Given the description of an element on the screen output the (x, y) to click on. 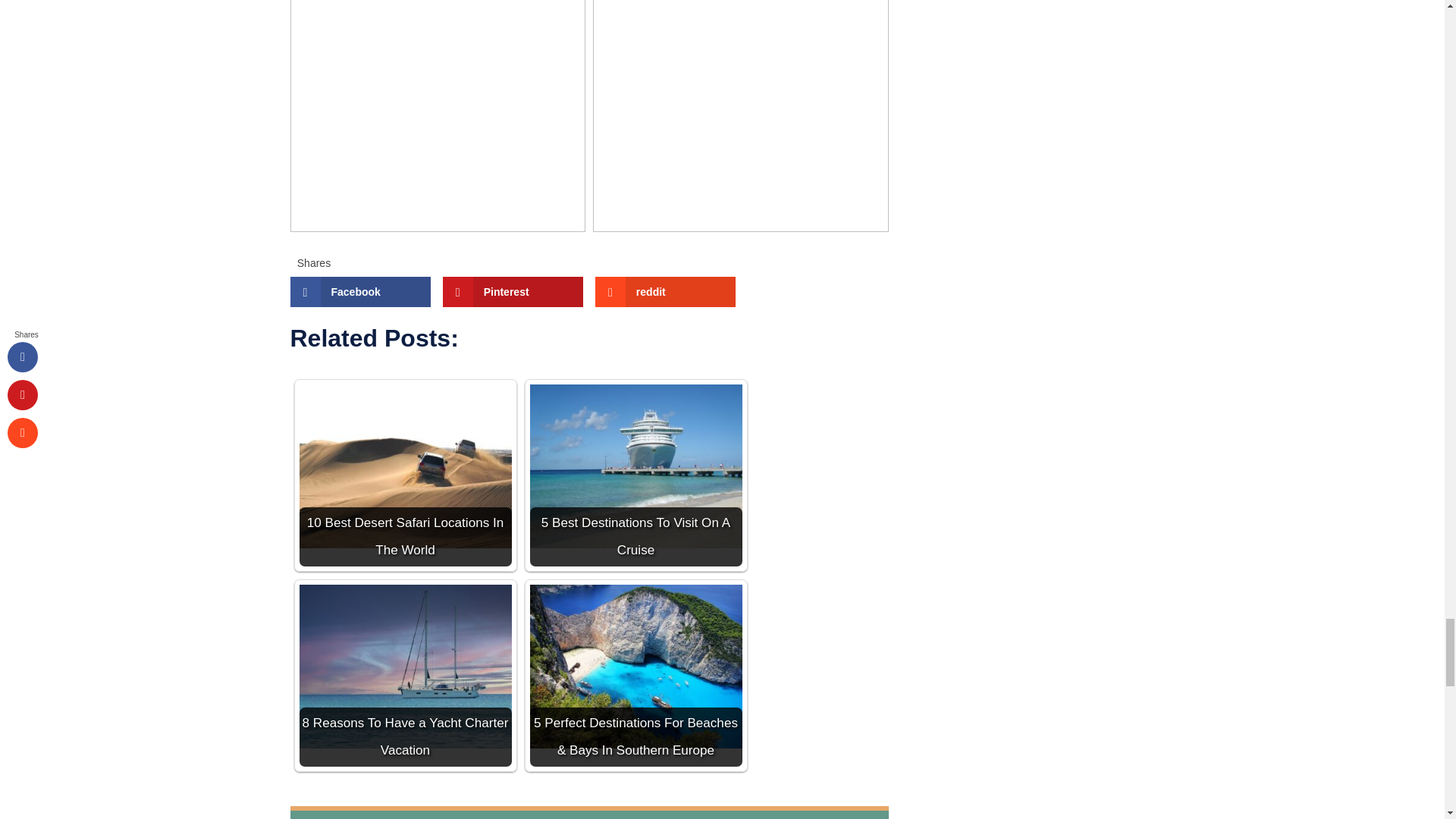
10 Best Desert Safari Locations In The World (404, 465)
8 Reasons To Have a Yacht Charter Vacation (404, 666)
5 Best Destinations To Visit On A Cruise (635, 465)
